Given the description of an element on the screen output the (x, y) to click on. 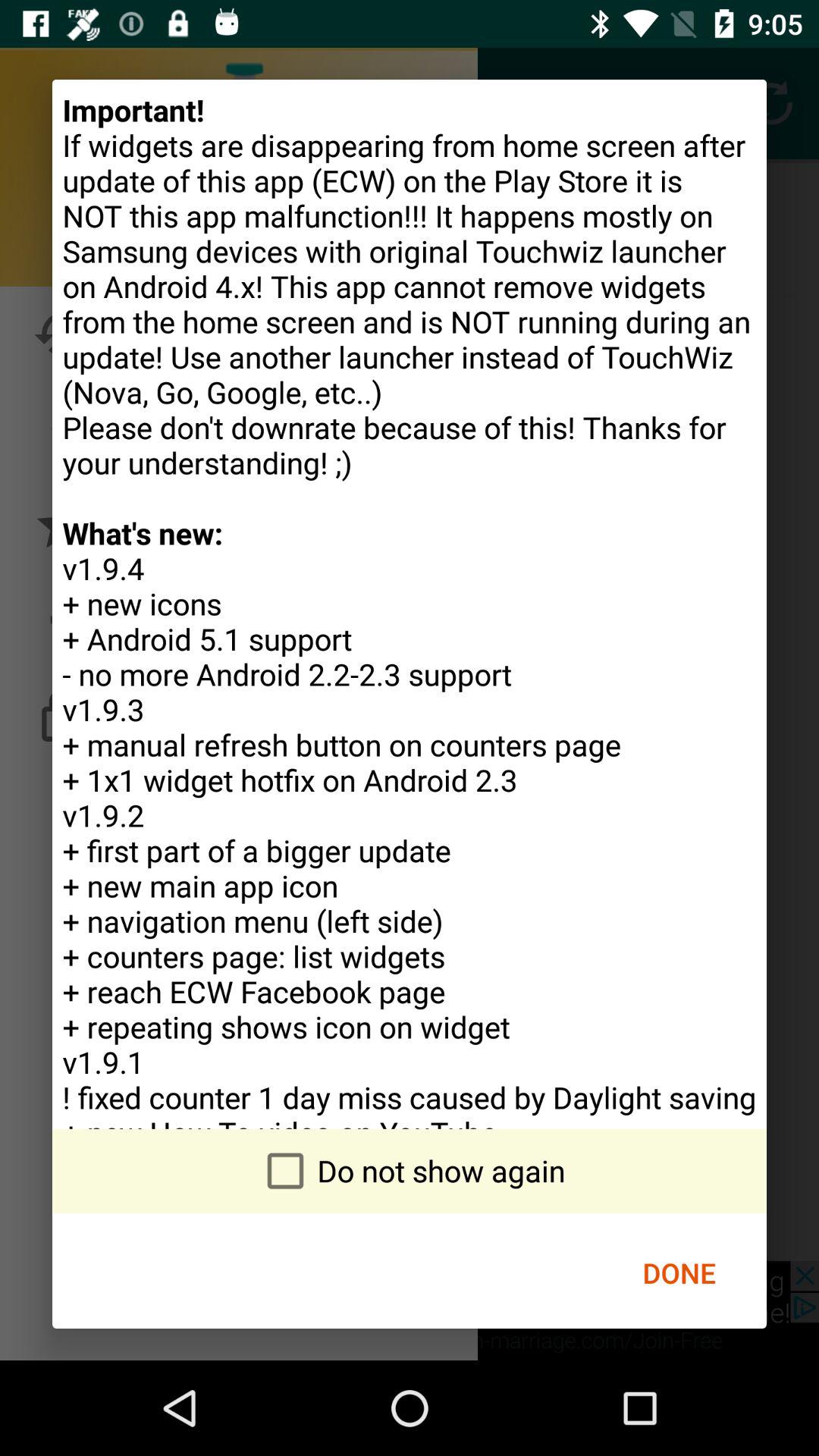
click the icon at the bottom (409, 1170)
